Given the description of an element on the screen output the (x, y) to click on. 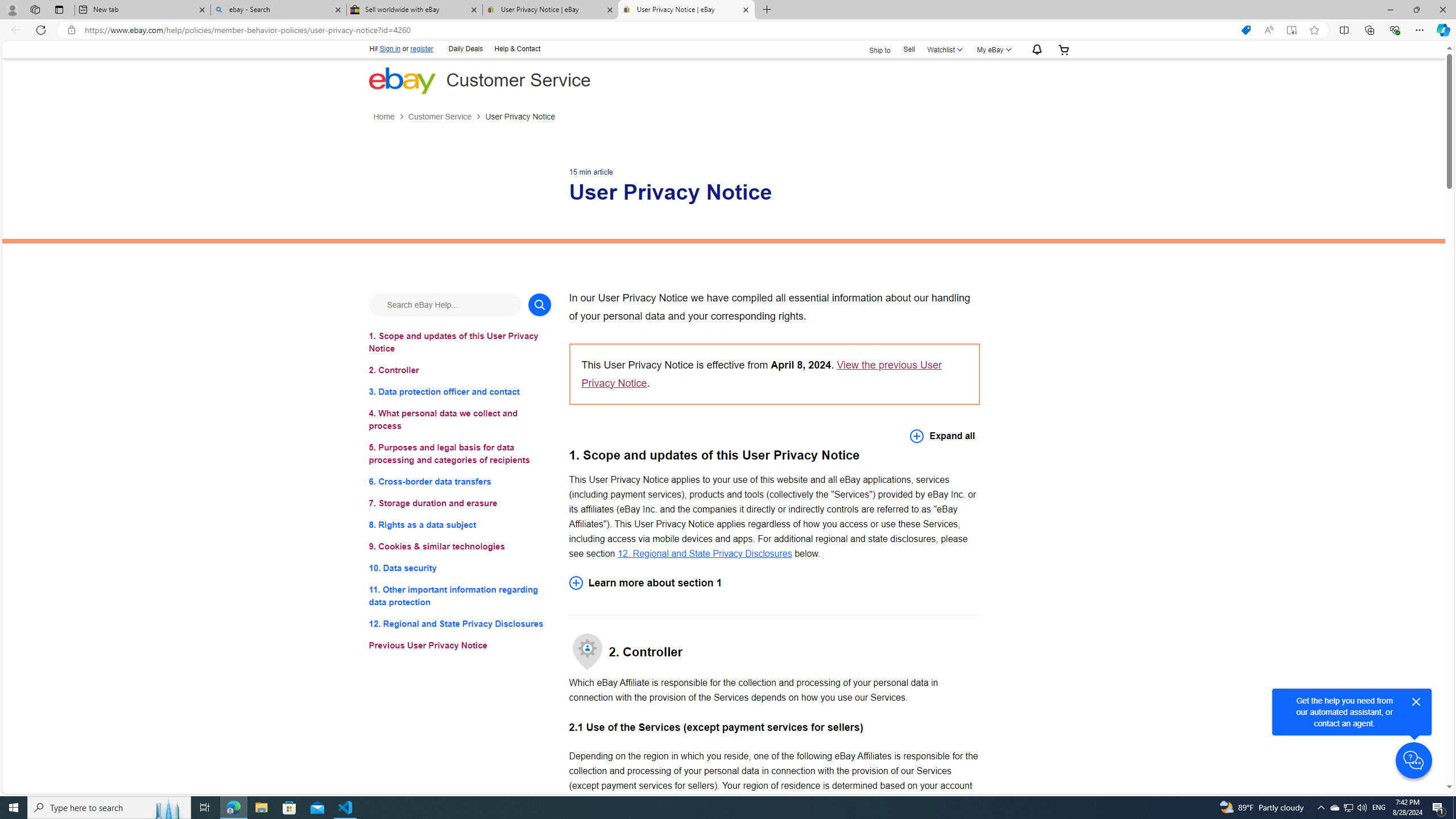
Enter Immersive Reader (F9) (1291, 29)
Expand all (942, 435)
11. Other important information regarding data protection (459, 596)
3. Data protection officer and contact (459, 391)
My eBay (992, 49)
User Privacy Notice (520, 117)
10. Data security (459, 567)
9. Cookies & similar technologies (459, 546)
